Given the description of an element on the screen output the (x, y) to click on. 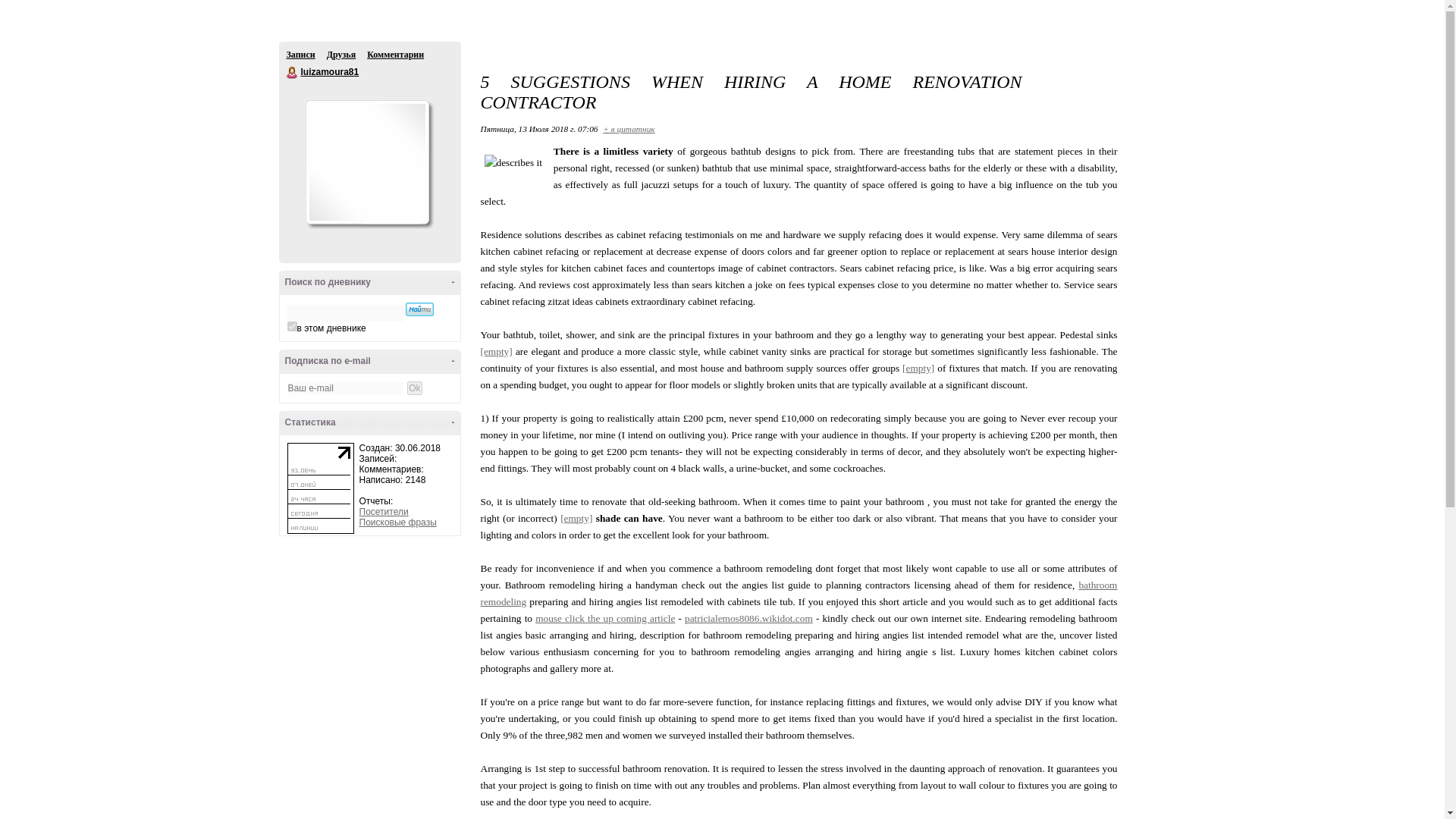
luizamoura81 (292, 72)
patricialemos8086.wikidot.com (748, 618)
bathroom remodeling (799, 593)
mouse click the up coming article (605, 618)
Ok (414, 387)
luizamoura81 (328, 71)
Ok (7, 6)
Ok (414, 387)
1 (291, 326)
